Given the description of an element on the screen output the (x, y) to click on. 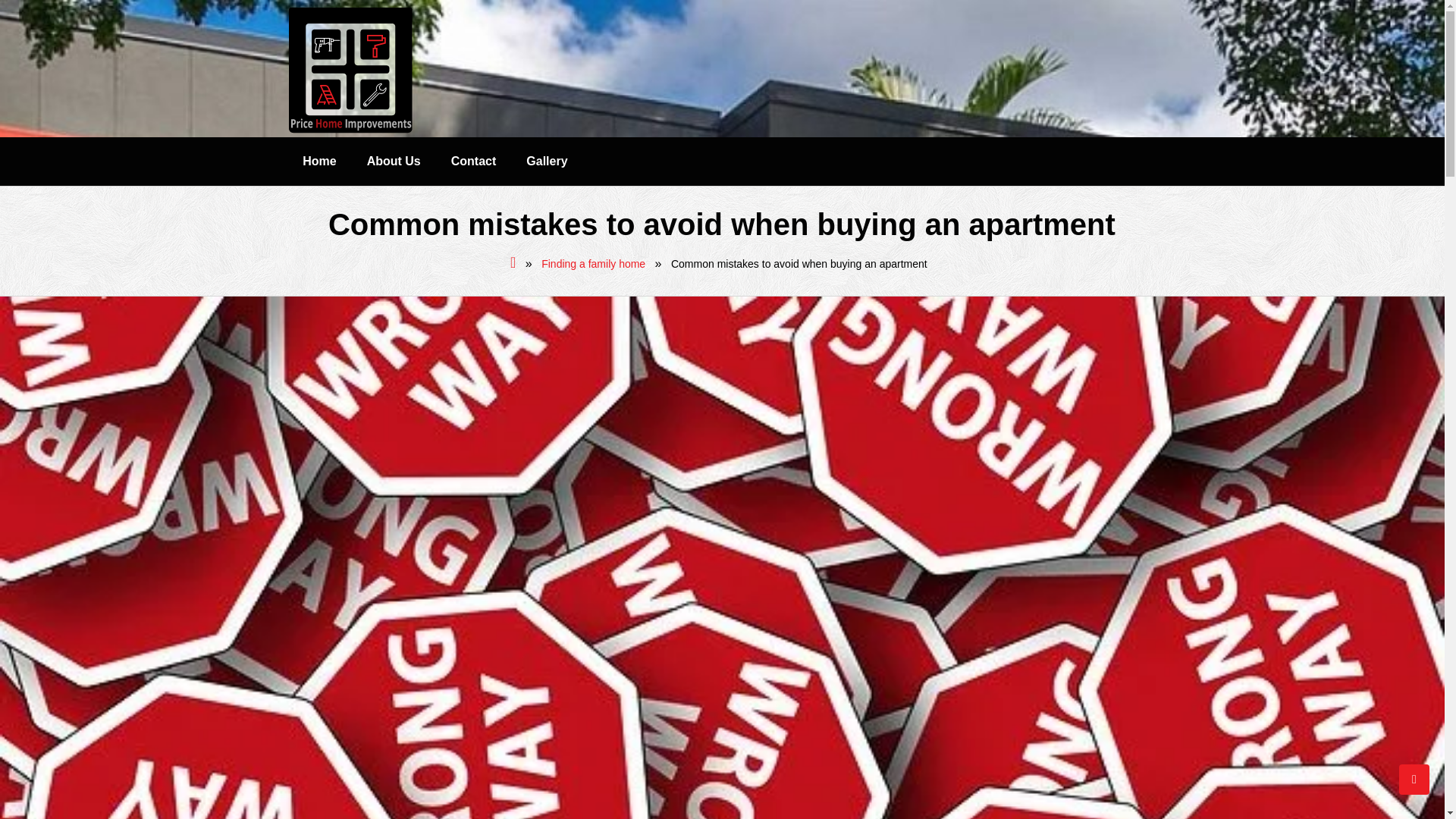
Gallery (546, 161)
Contact (473, 161)
About Us (393, 161)
Finding a family home (593, 263)
Home (318, 161)
